Given the description of an element on the screen output the (x, y) to click on. 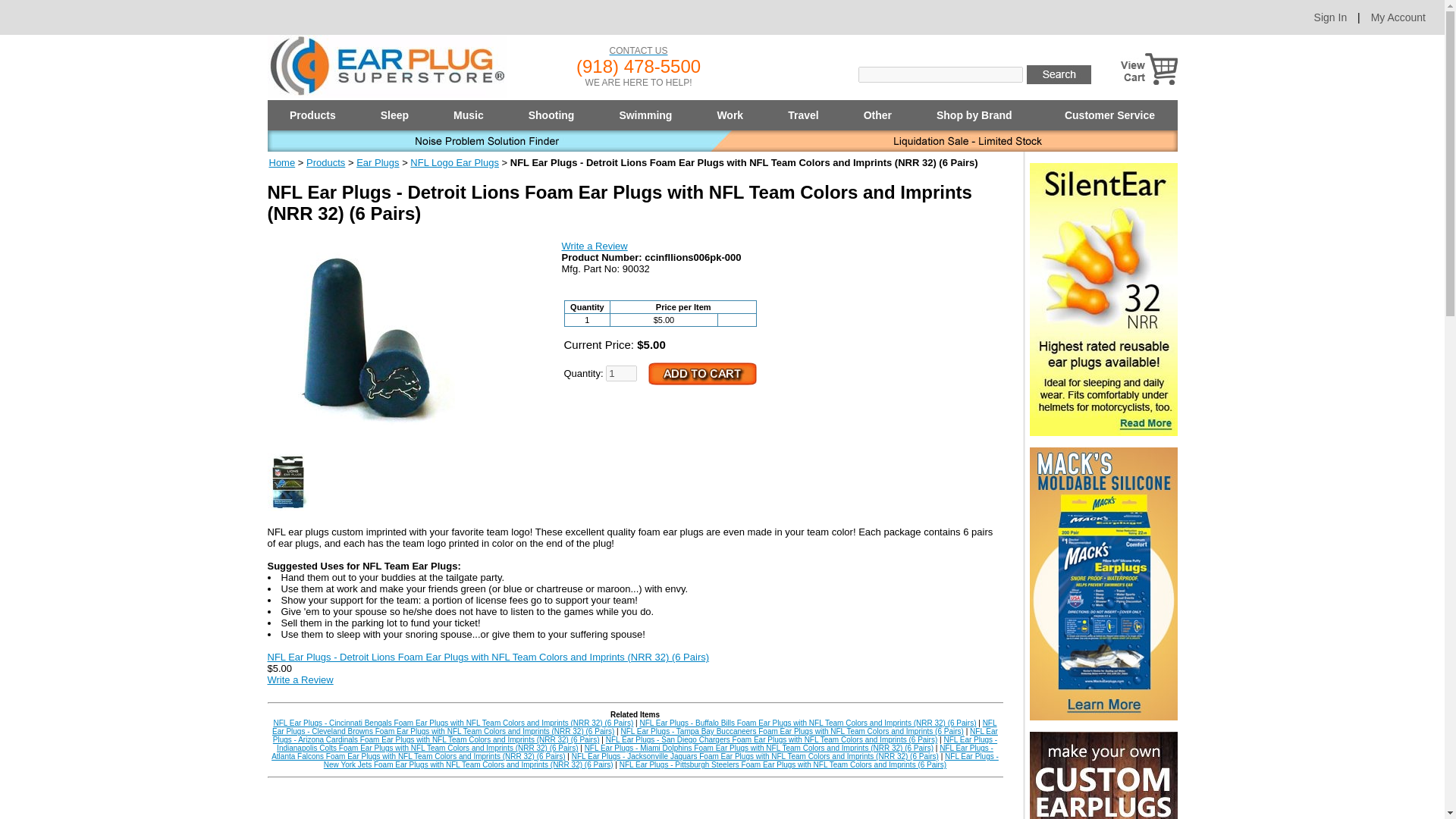
EarPlugStore.com (386, 66)
CONTACT US (639, 50)
Products (312, 114)
My Account (1398, 17)
Sign In (1331, 17)
search (1058, 74)
1 (621, 373)
